Given the description of an element on the screen output the (x, y) to click on. 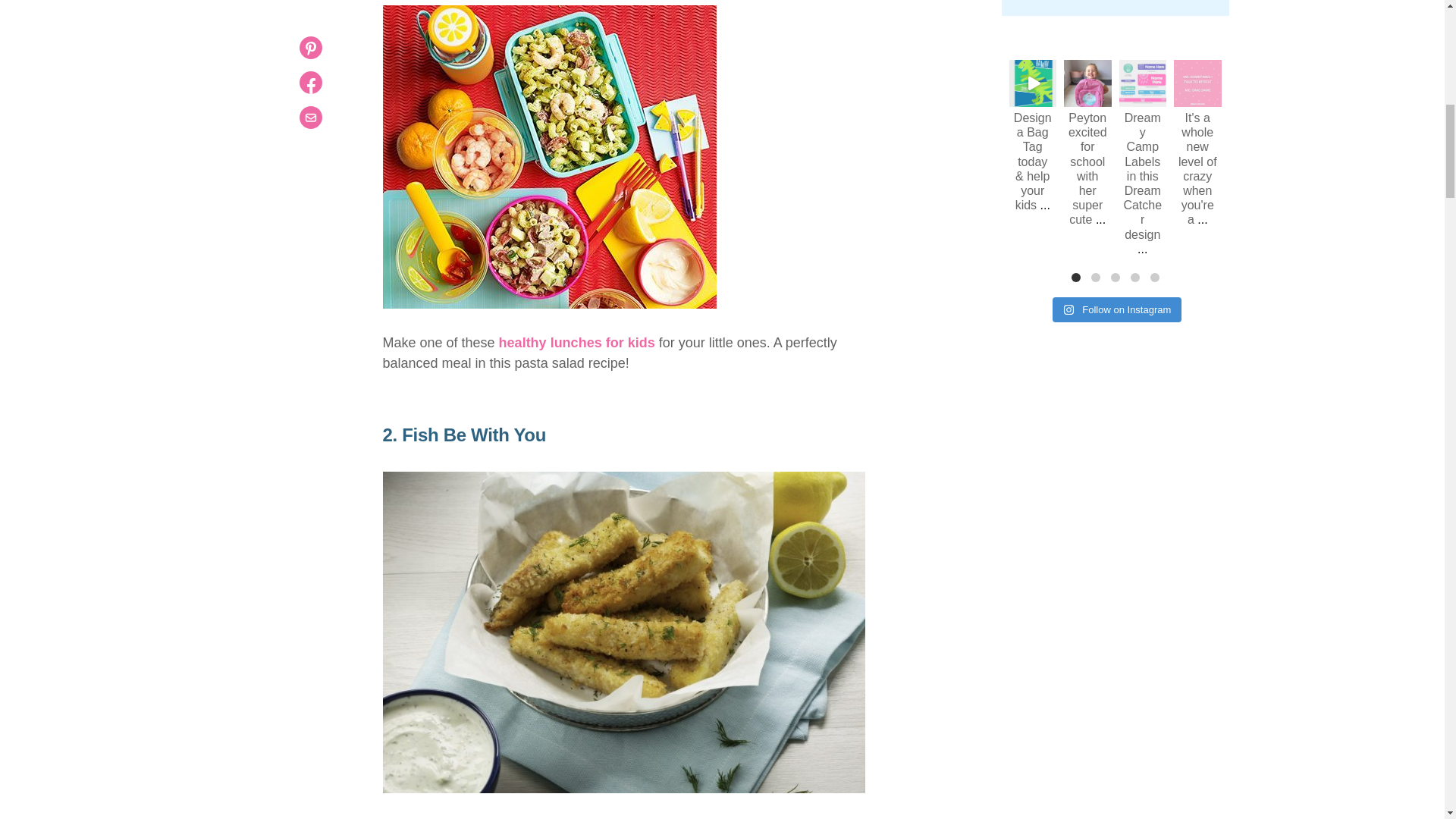
Lunch Ideas For Kids (548, 156)
healthy lunches for kids (577, 342)
